Given the description of an element on the screen output the (x, y) to click on. 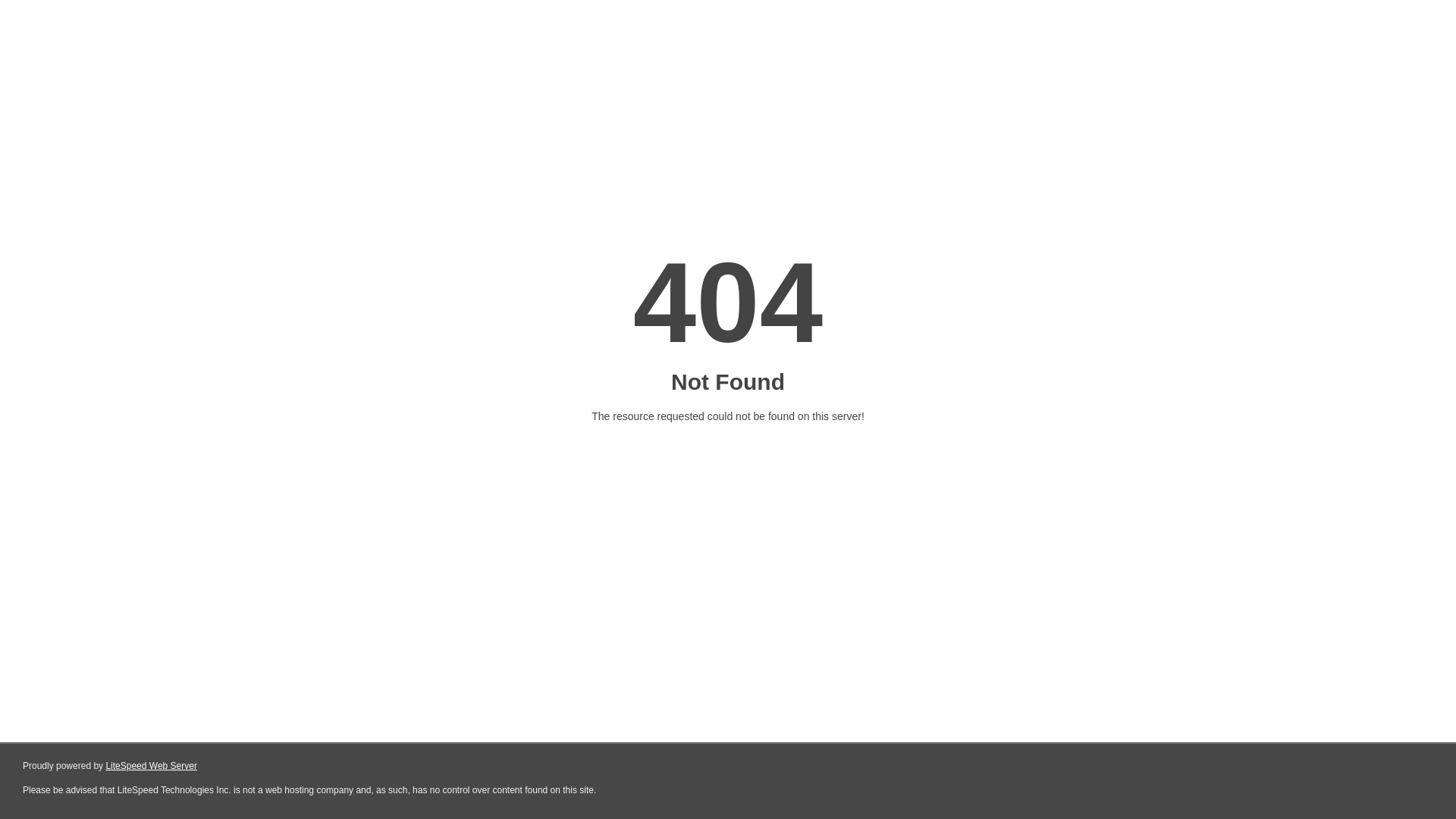
LiteSpeed Web Server Element type: text (151, 765)
